Given the description of an element on the screen output the (x, y) to click on. 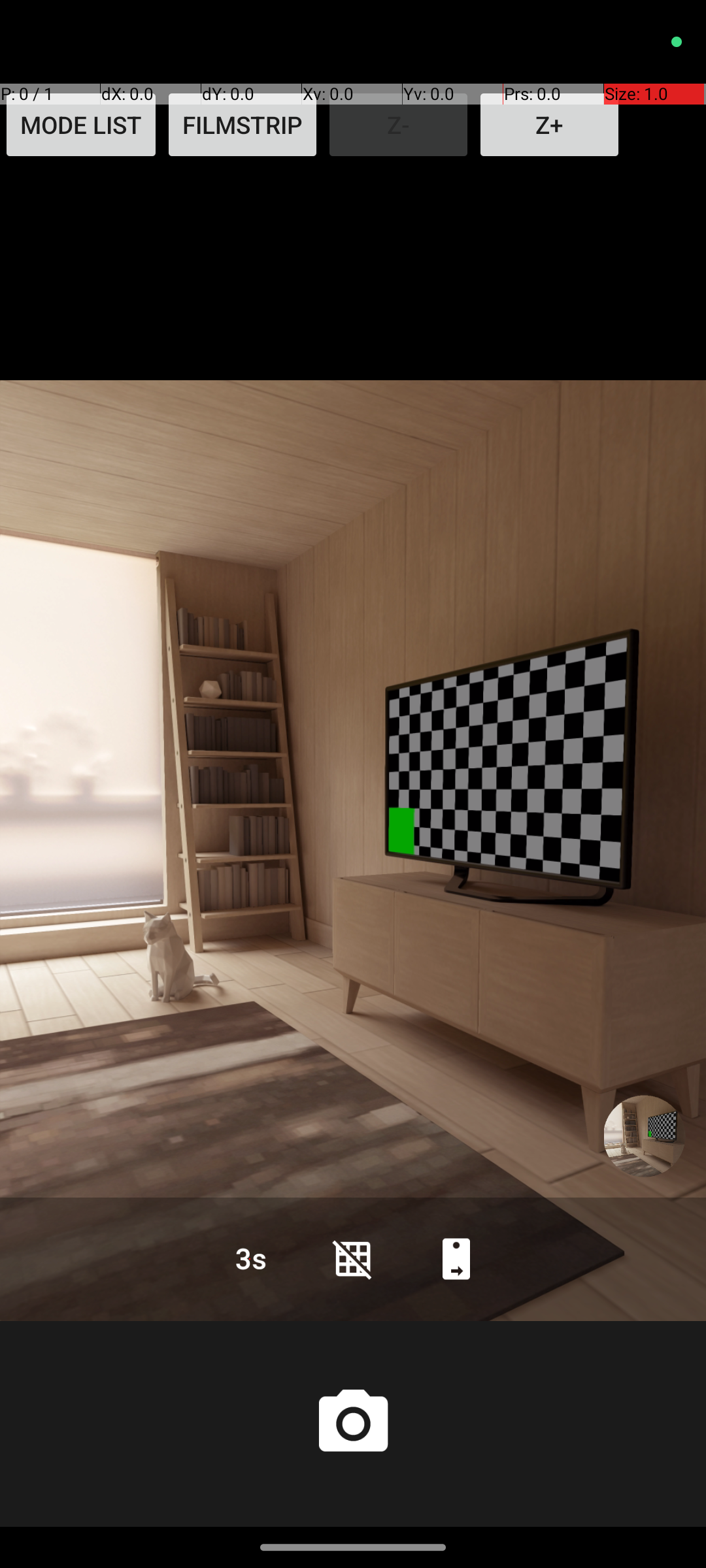
Shutter Element type: android.widget.ImageView (353, 1423)
MODE LIST Element type: android.widget.Button (81, 124)
FILMSTRIP Element type: android.widget.Button (242, 124)
Z- Element type: android.widget.Button (397, 124)
Z+ Element type: android.widget.Button (548, 124)
Countdown timer duration is set to 3 seconds Element type: android.widget.ImageButton (249, 1258)
Grid lines off Element type: android.widget.ImageButton (352, 1258)
Back camera Element type: android.widget.ImageButton (456, 1258)
